Given the description of an element on the screen output the (x, y) to click on. 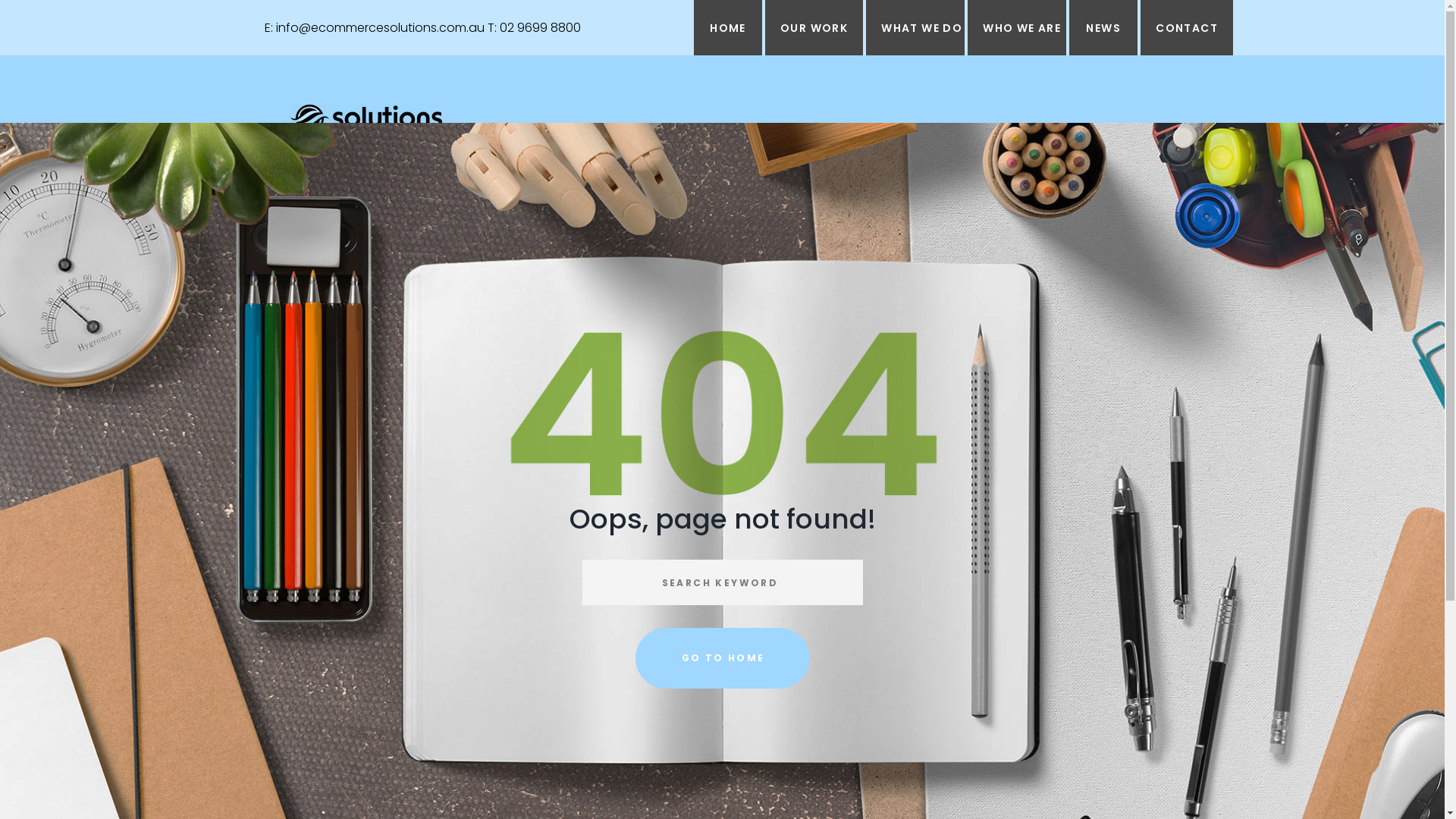
Page not found - eCommerce Solutions Element type: hover (365, 119)
info@ecommercesolutions.com.au Element type: text (380, 26)
02 9699 8800 Element type: text (539, 26)
OUR WORK Element type: text (813, 27)
GO TO HOME Element type: text (722, 657)
NEWS Element type: text (1103, 27)
Search for: Element type: hover (722, 582)
HOME Element type: text (727, 27)
CONTACT Element type: text (1186, 27)
WHAT WE DO Element type: text (915, 27)
WHO WE ARE Element type: text (1016, 27)
